Given the description of an element on the screen output the (x, y) to click on. 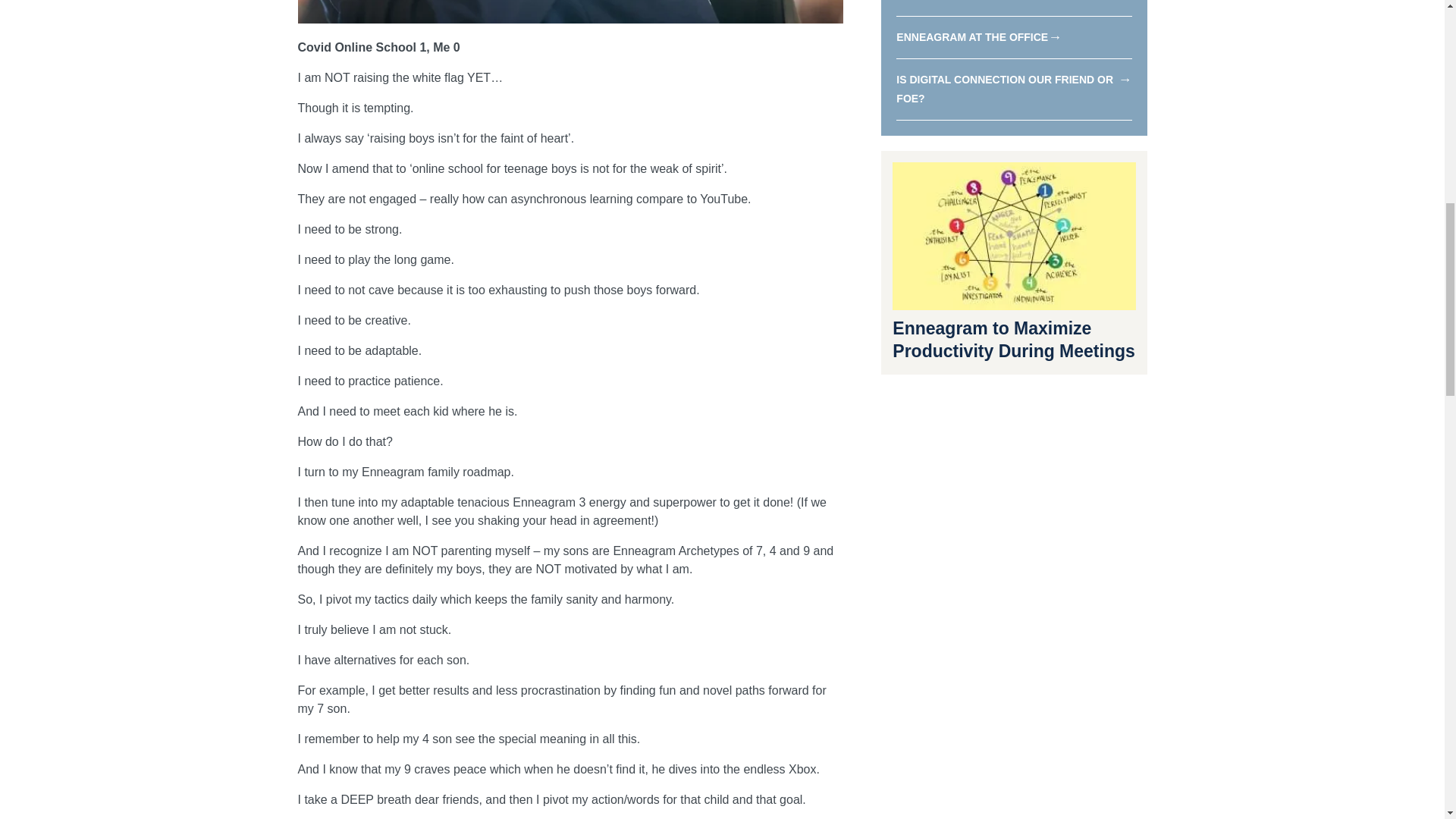
Enneagram to Maximize Productivity During Meetings (1013, 339)
ENNEAGRAM AT THE OFFICE (972, 37)
IS DIGITAL CONNECTION OUR FRIEND OR FOE?  (1004, 88)
